Given the description of an element on the screen output the (x, y) to click on. 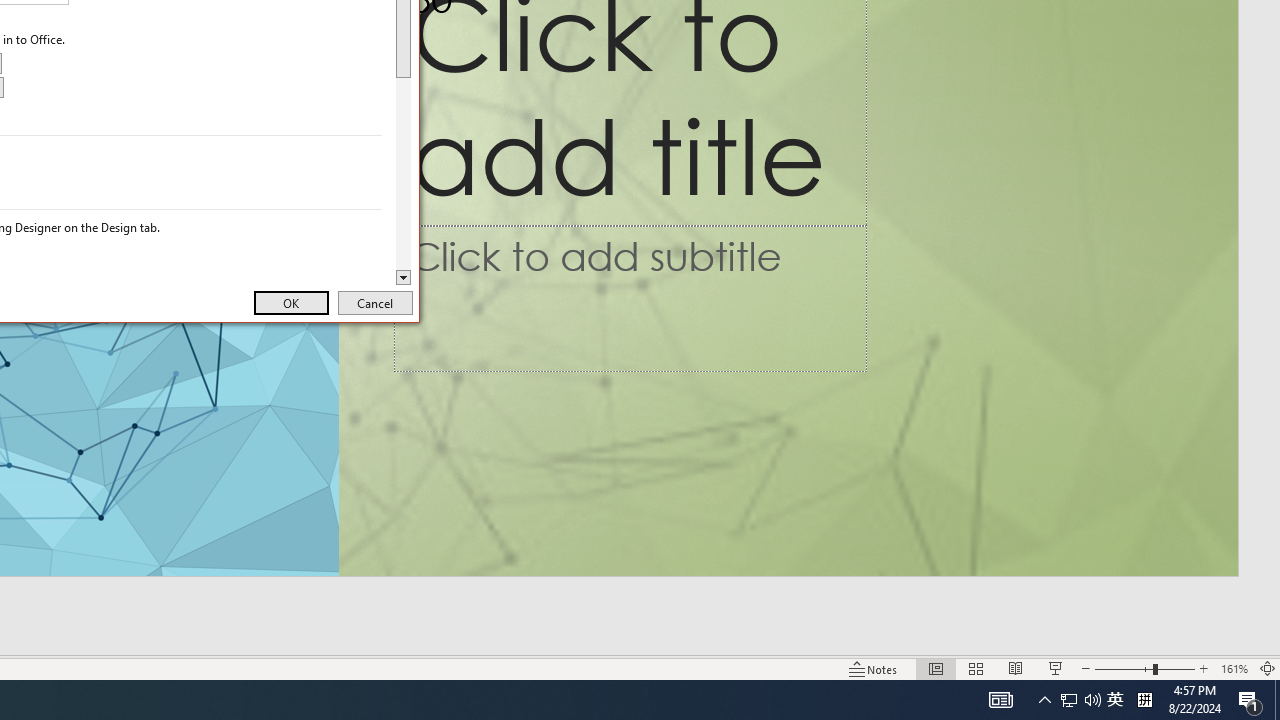
Q2790: 100% (1115, 699)
Tray Input Indicator - Chinese (Simplified, China) (1092, 699)
OK (1144, 699)
Show desktop (290, 302)
User Promoted Notification Area (1277, 699)
